Given the description of an element on the screen output the (x, y) to click on. 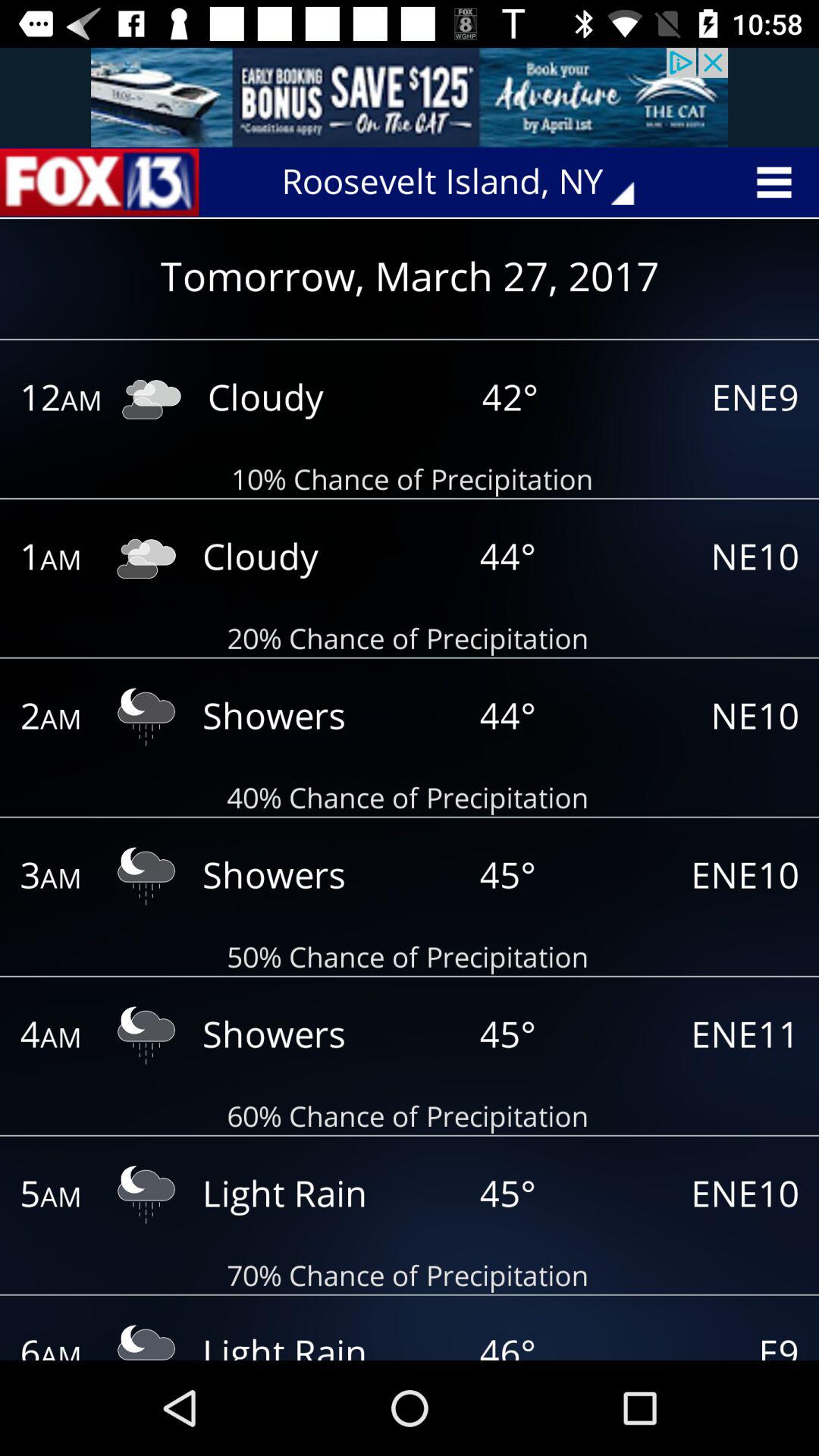
pop up advertisement (409, 97)
